Given the description of an element on the screen output the (x, y) to click on. 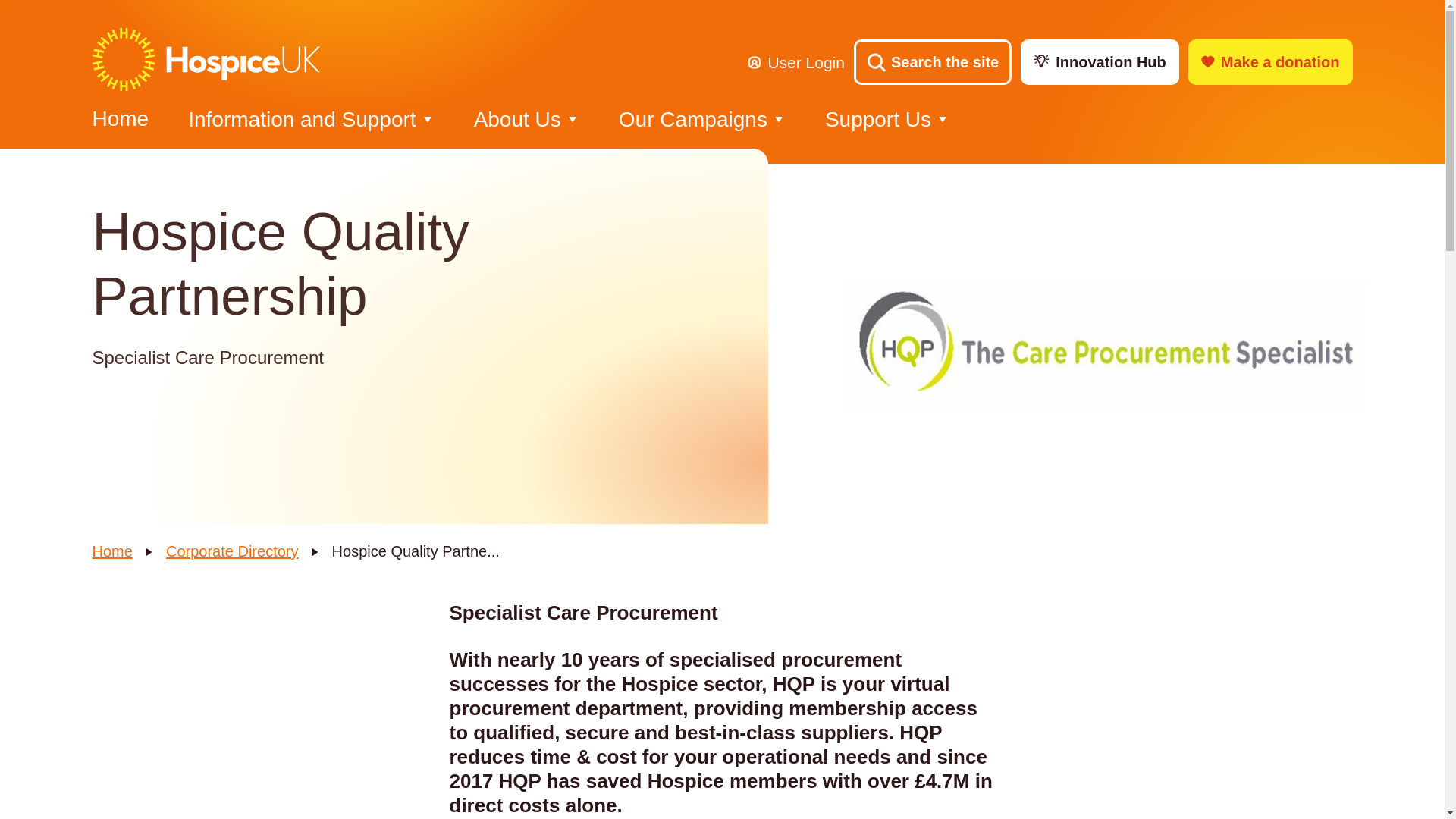
Innovation Hub (1099, 62)
Our Campaigns (692, 119)
Make a donation (1270, 62)
User Login (796, 61)
Home (121, 120)
Search the site (932, 62)
Home (112, 550)
Information and Support (300, 119)
Corporate Directory (231, 550)
About Us (517, 119)
